Given the description of an element on the screen output the (x, y) to click on. 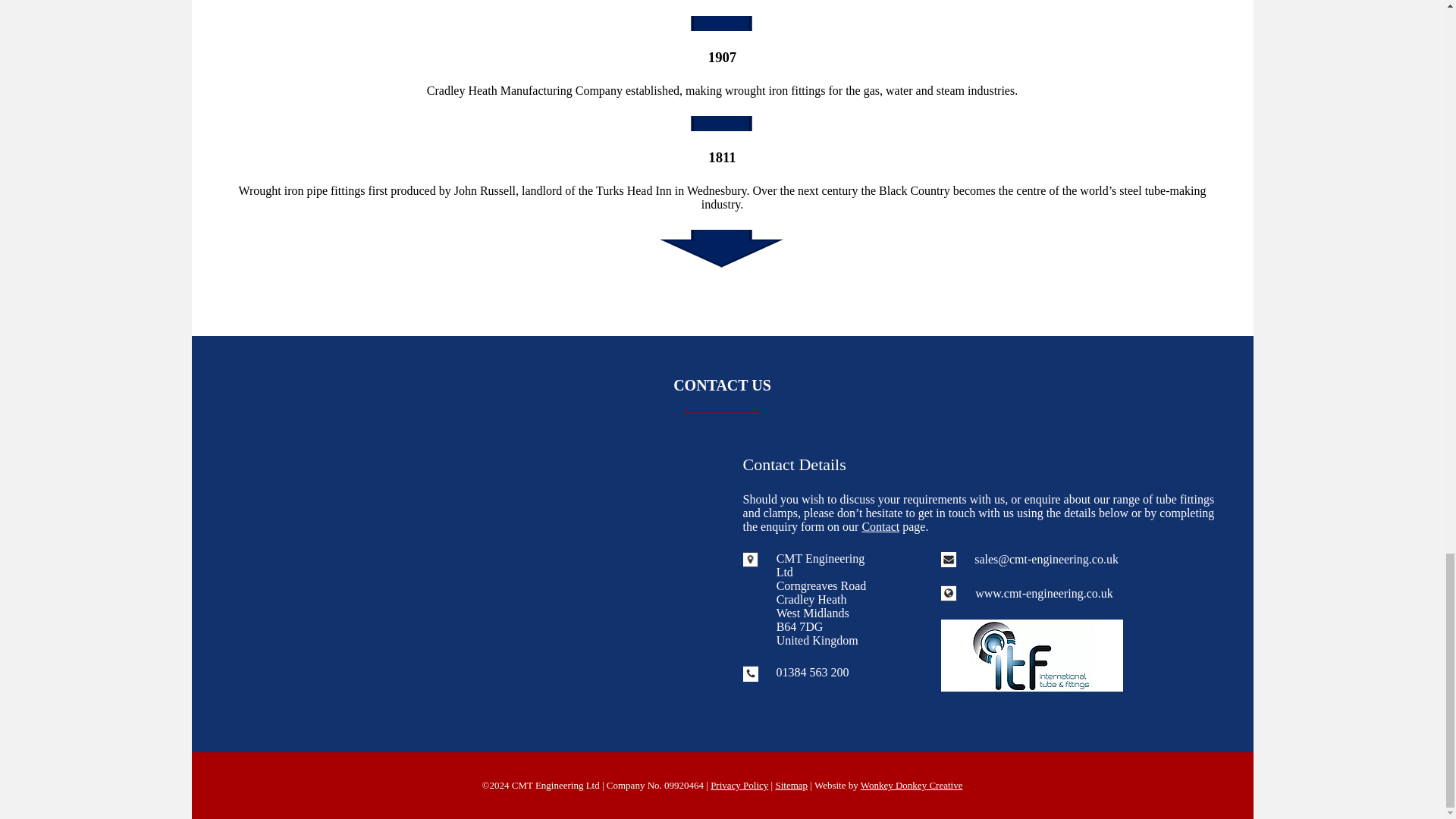
Sitemap (791, 785)
Privacy Policy (739, 785)
Contact (880, 526)
Wonkey Donkey Creative (911, 785)
